Given the description of an element on the screen output the (x, y) to click on. 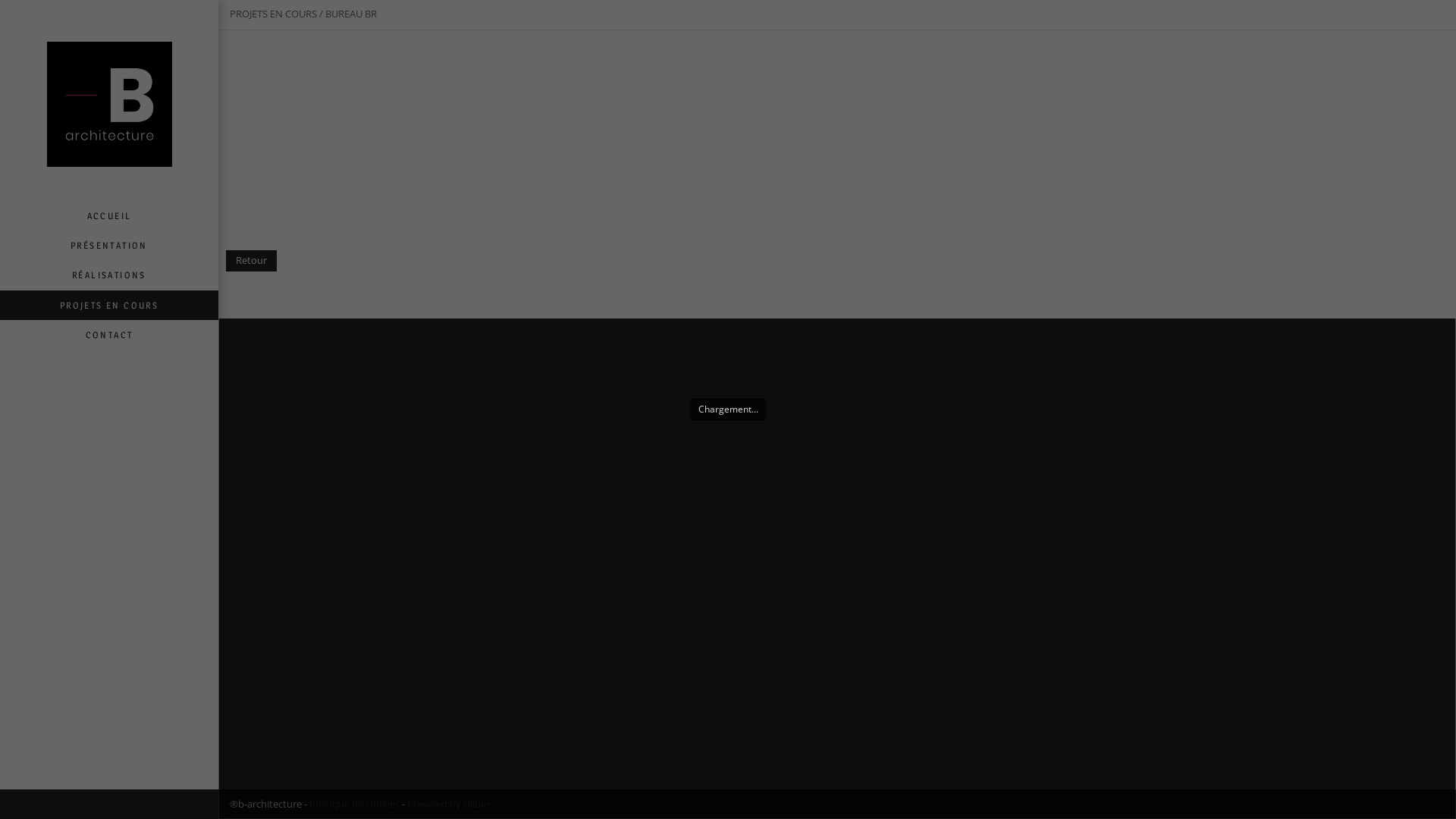
ACCUEIL Element type: text (109, 215)
Retour Element type: text (250, 260)
PROJETS EN COURS Element type: text (109, 305)
Powered by Gliber Element type: text (448, 803)
Politique de cookies Element type: text (354, 803)
B-architecture Element type: hover (109, 100)
CONTACT Element type: text (109, 334)
